Given the description of an element on the screen output the (x, y) to click on. 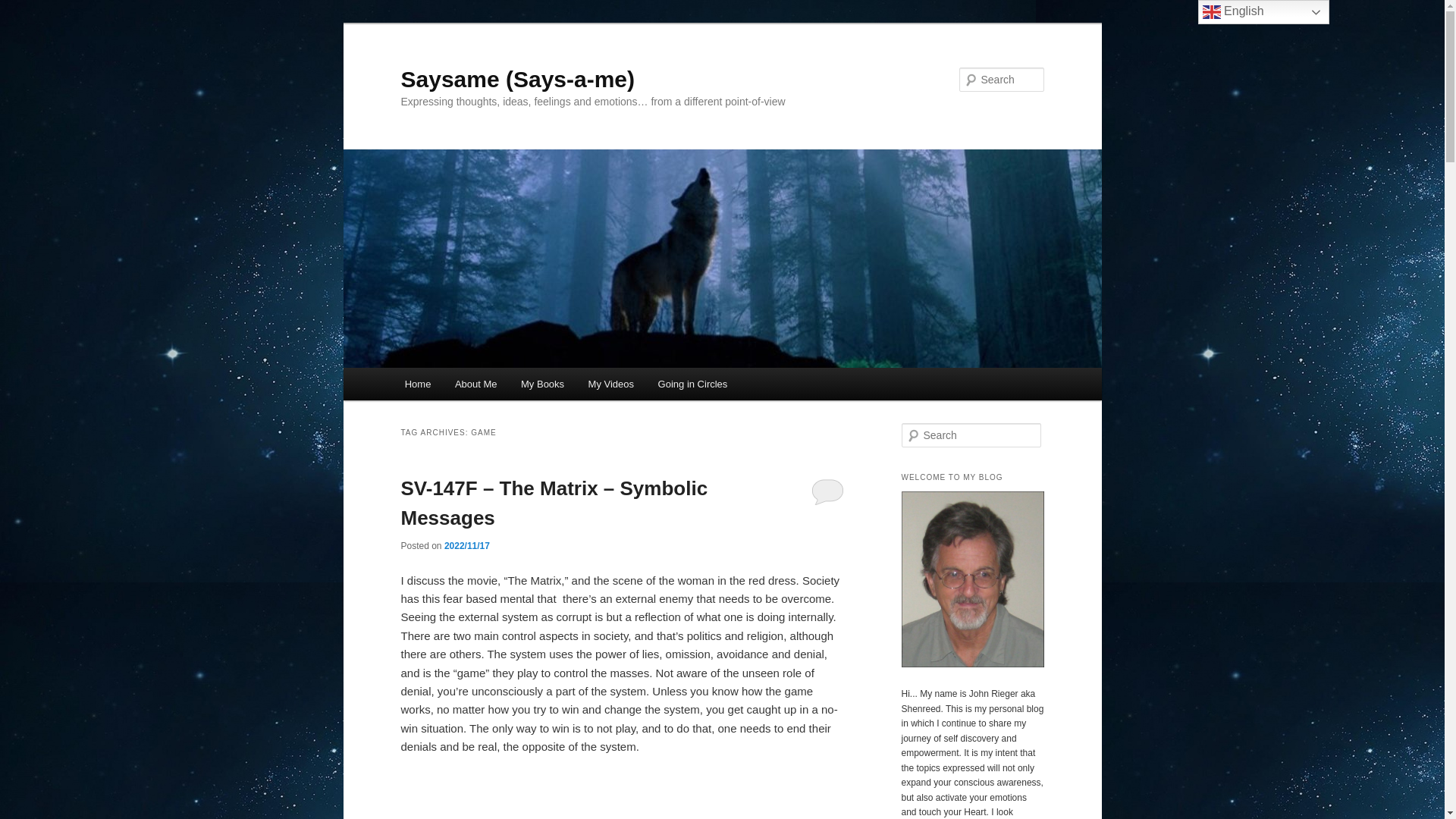
Going in Circles (692, 383)
9:32 pm (466, 545)
SV 147F   The Matrix   Symbolic Messages (621, 796)
Me 2009 (972, 664)
About Me (475, 383)
Home (417, 383)
Search (24, 8)
My Books (542, 383)
My Videos (611, 383)
